Given the description of an element on the screen output the (x, y) to click on. 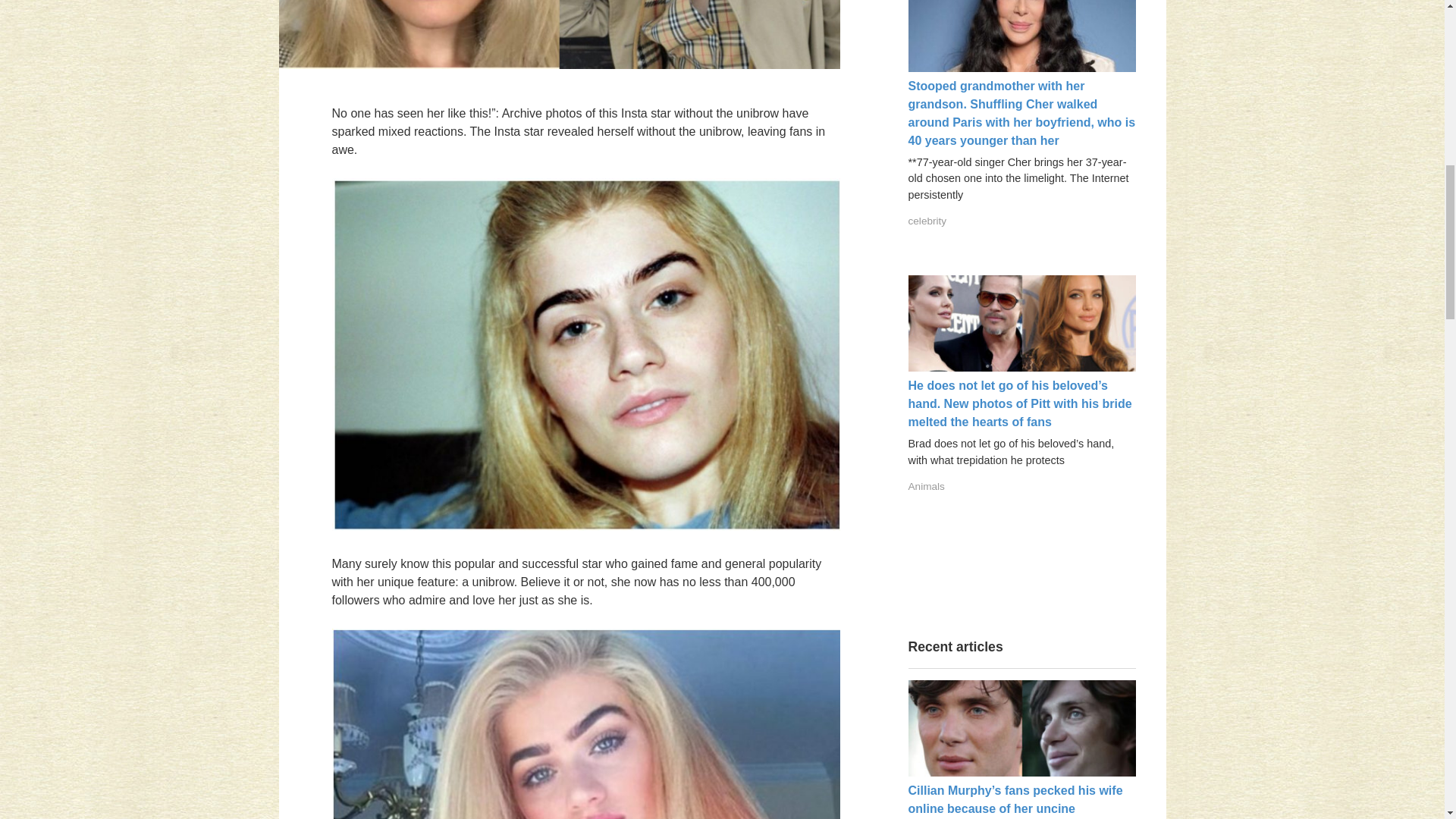
celebrity (927, 220)
Animals (926, 486)
